Given the description of an element on the screen output the (x, y) to click on. 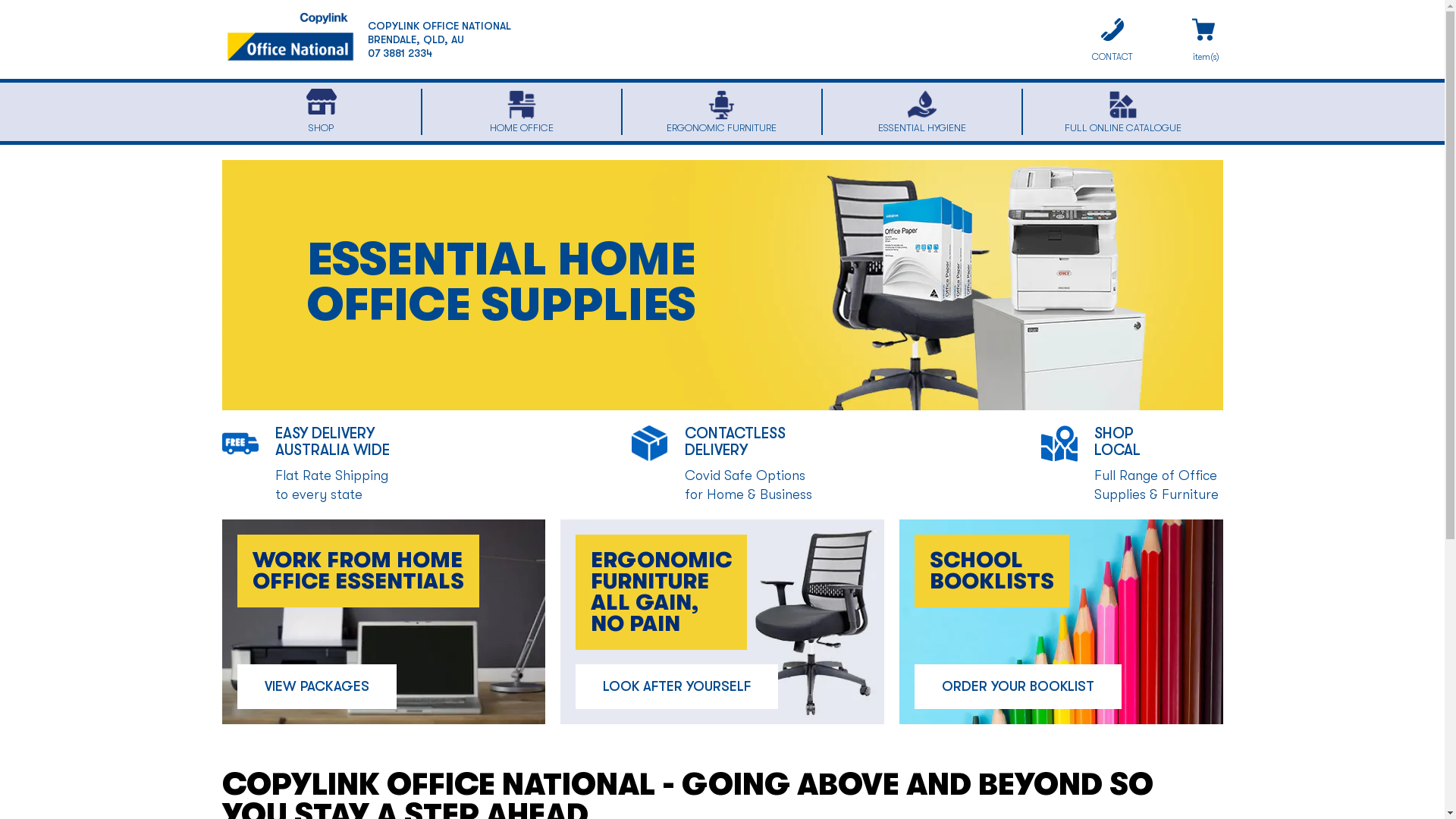
Copylink Office Products Element type: hover (289, 38)
School booklists Element type: hover (1061, 621)
ESSENTIAL HYGIENE Element type: text (922, 111)
ORDER YOUR BOOKLIST Element type: text (1017, 686)
SCHOOL
BOOKLISTS Element type: text (991, 570)
FULL ONLINE CATALOGUE Element type: text (1122, 111)
EASY DELIVERY
AUSTRALIA WIDE Element type: text (331, 450)
SHOP Element type: text (321, 111)
SHOP
LOCAL
Full Range of Office Supplies & Furniture Element type: text (1155, 472)
CONTACT Element type: text (1111, 41)
ERGONOMIC
FURNITURE
ALL GAIN,
NO PAIN Element type: text (660, 592)
WORK FROM HOME
OFFICE ESSENTIALS Element type: text (357, 570)
07 3881 2334 Element type: text (399, 53)
My Basket Element type: hover (1203, 41)
Rectangle 9 Element type: hover (383, 621)
HOME OFFICE Element type: text (521, 111)
VIEW PACKAGES Element type: text (315, 686)
LOOK AFTER YOURSELF Element type: text (676, 686)
  Element type: text (1203, 41)
Rectangle 12 Element type: hover (722, 621)
ERGONOMIC FURNITURE Element type: text (721, 111)
